Given the description of an element on the screen output the (x, y) to click on. 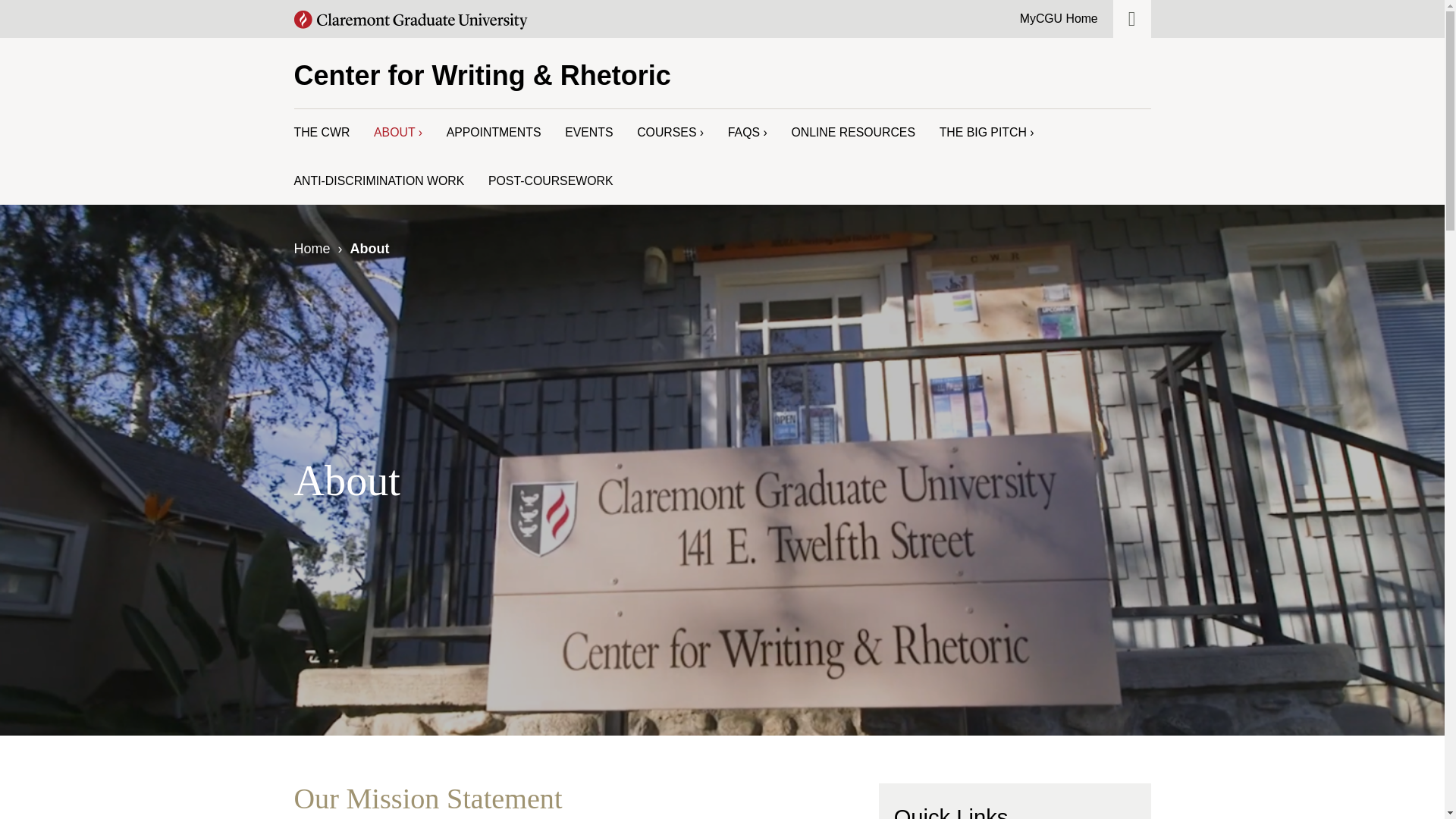
THE CWR (322, 132)
ONLINE RESOURCES (852, 132)
COURSES (670, 132)
Press Enter (1114, 57)
THE BIG PITCH (986, 132)
POST-COURSEWORK (549, 180)
open search field (1132, 18)
MyCGU Home (1058, 18)
ABOUT (398, 132)
APPOINTMENTS (493, 132)
Home (312, 248)
ANTI-DISCRIMINATION WORK (379, 180)
EVENTS (588, 132)
